Given the description of an element on the screen output the (x, y) to click on. 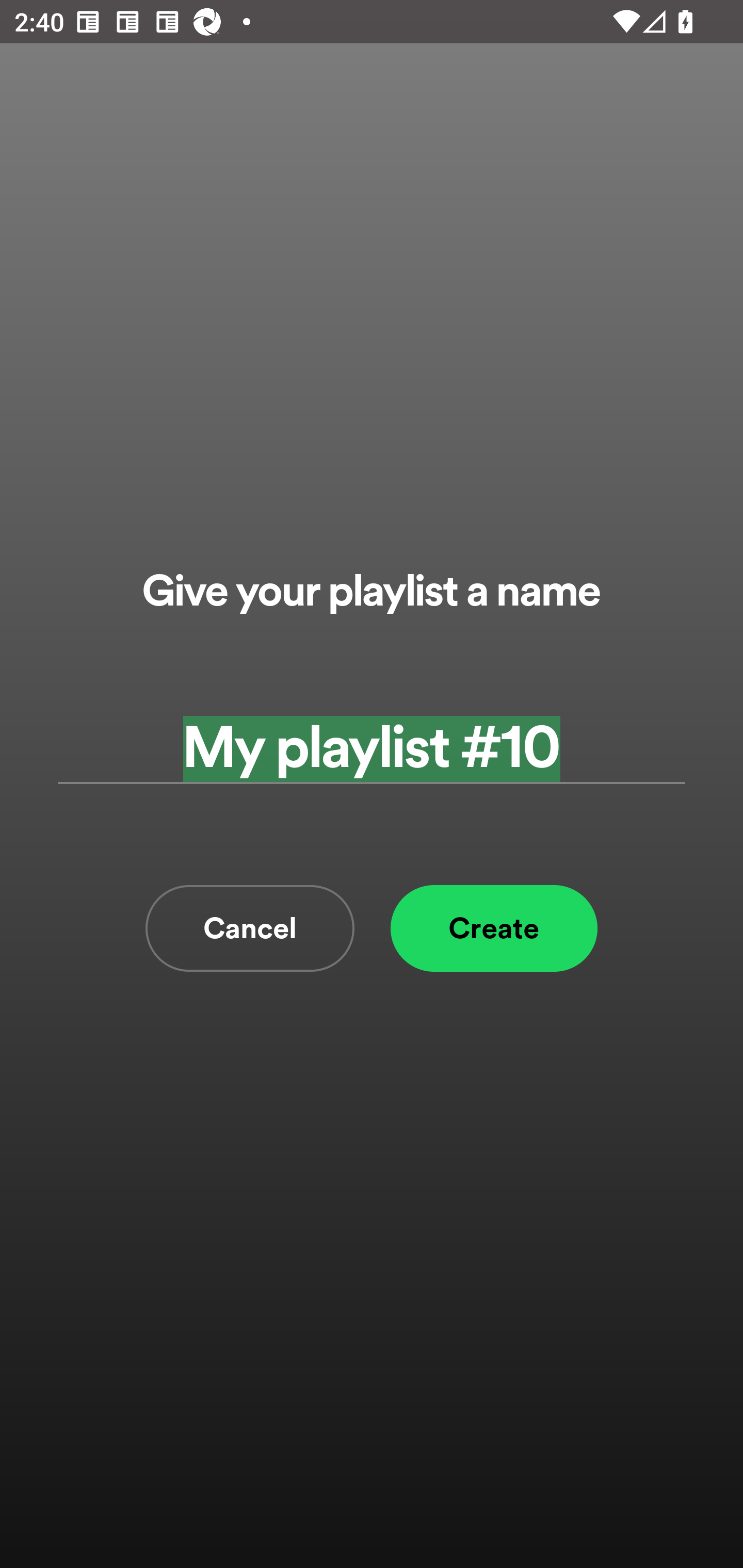
My playlist #10 Add a playlist name (371, 749)
Cancel (249, 928)
Create (493, 928)
